Given the description of an element on the screen output the (x, y) to click on. 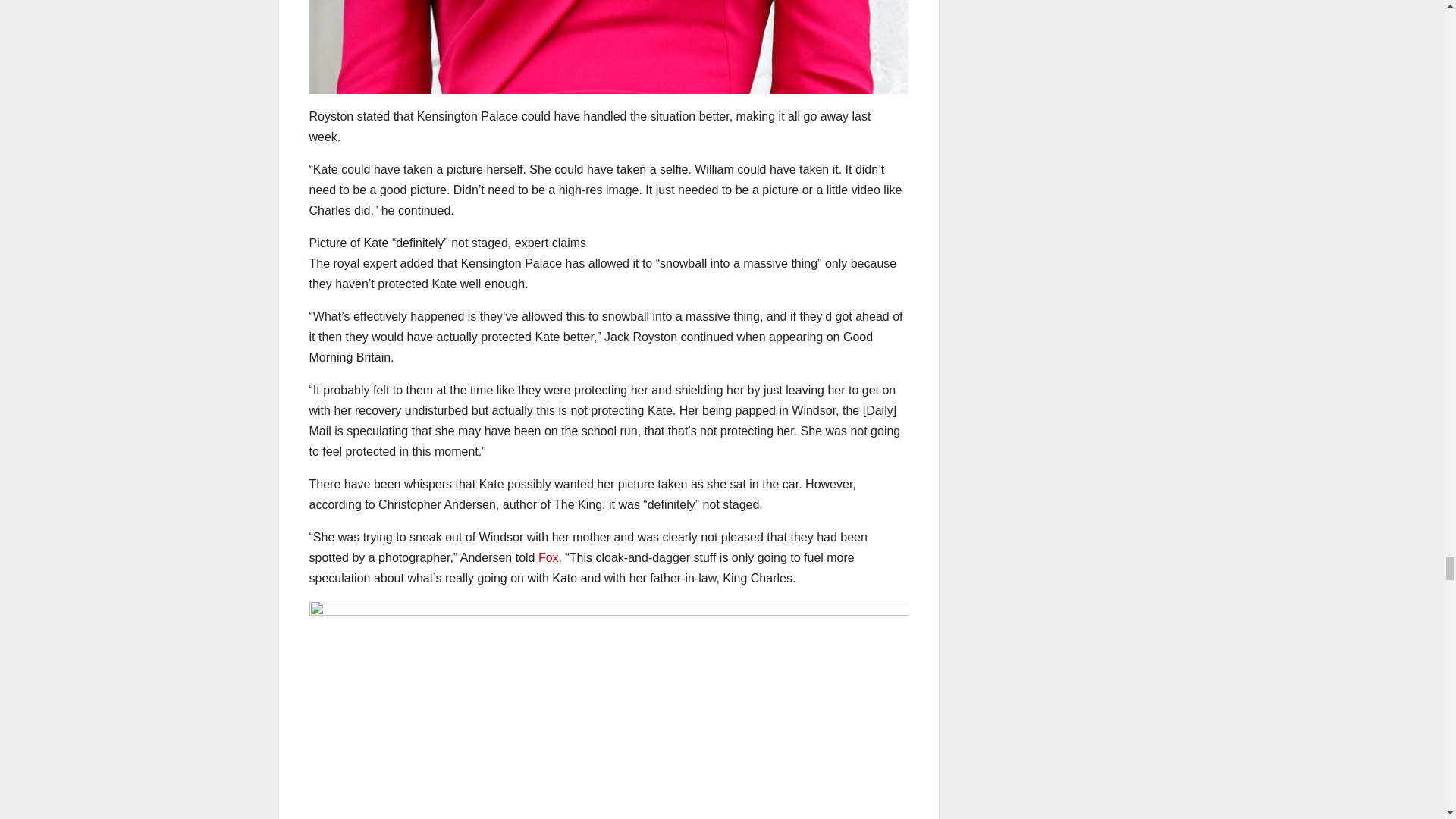
Fox (548, 557)
